Given the description of an element on the screen output the (x, y) to click on. 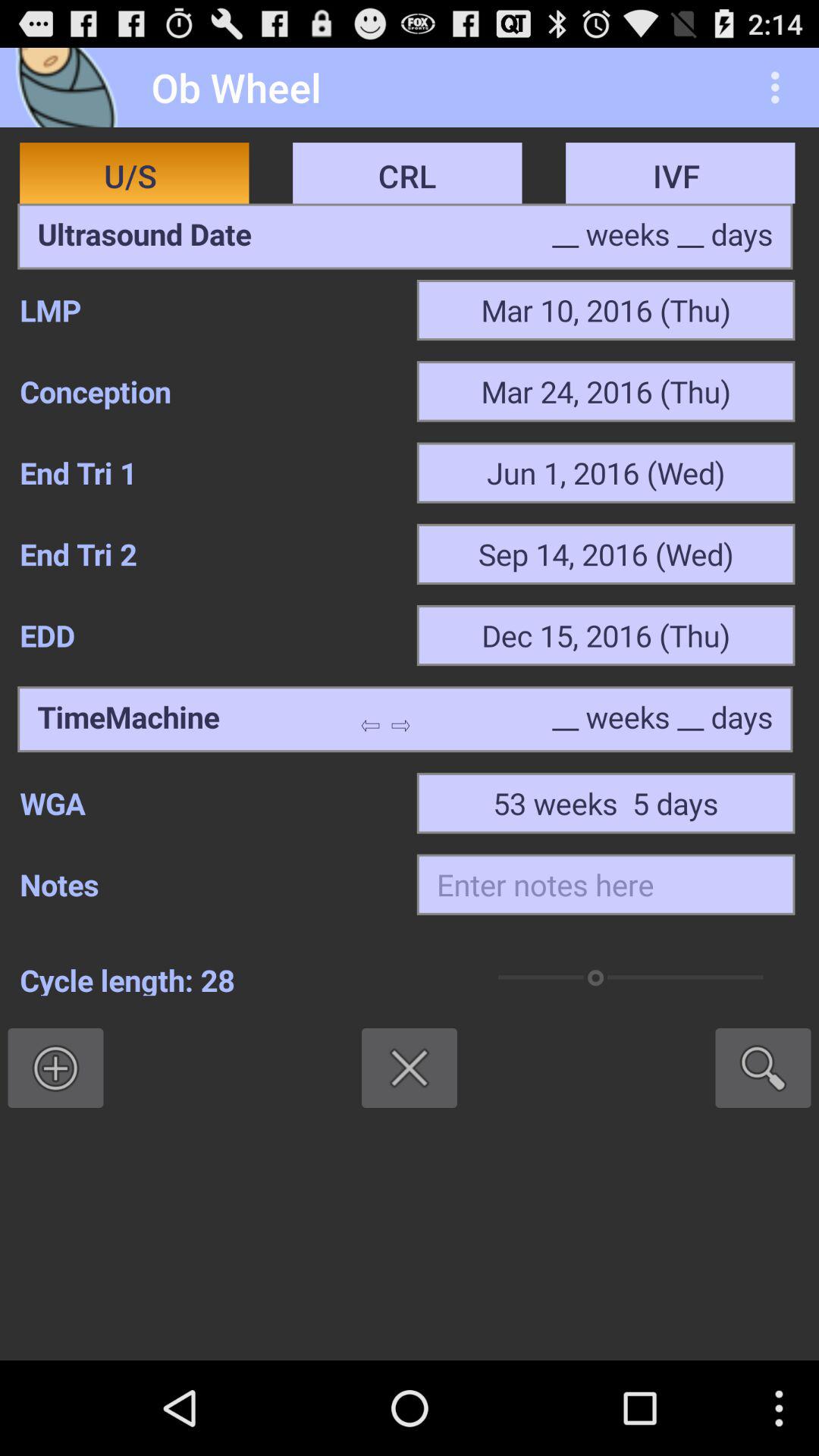
tap icon below the edd (128, 719)
